Given the description of an element on the screen output the (x, y) to click on. 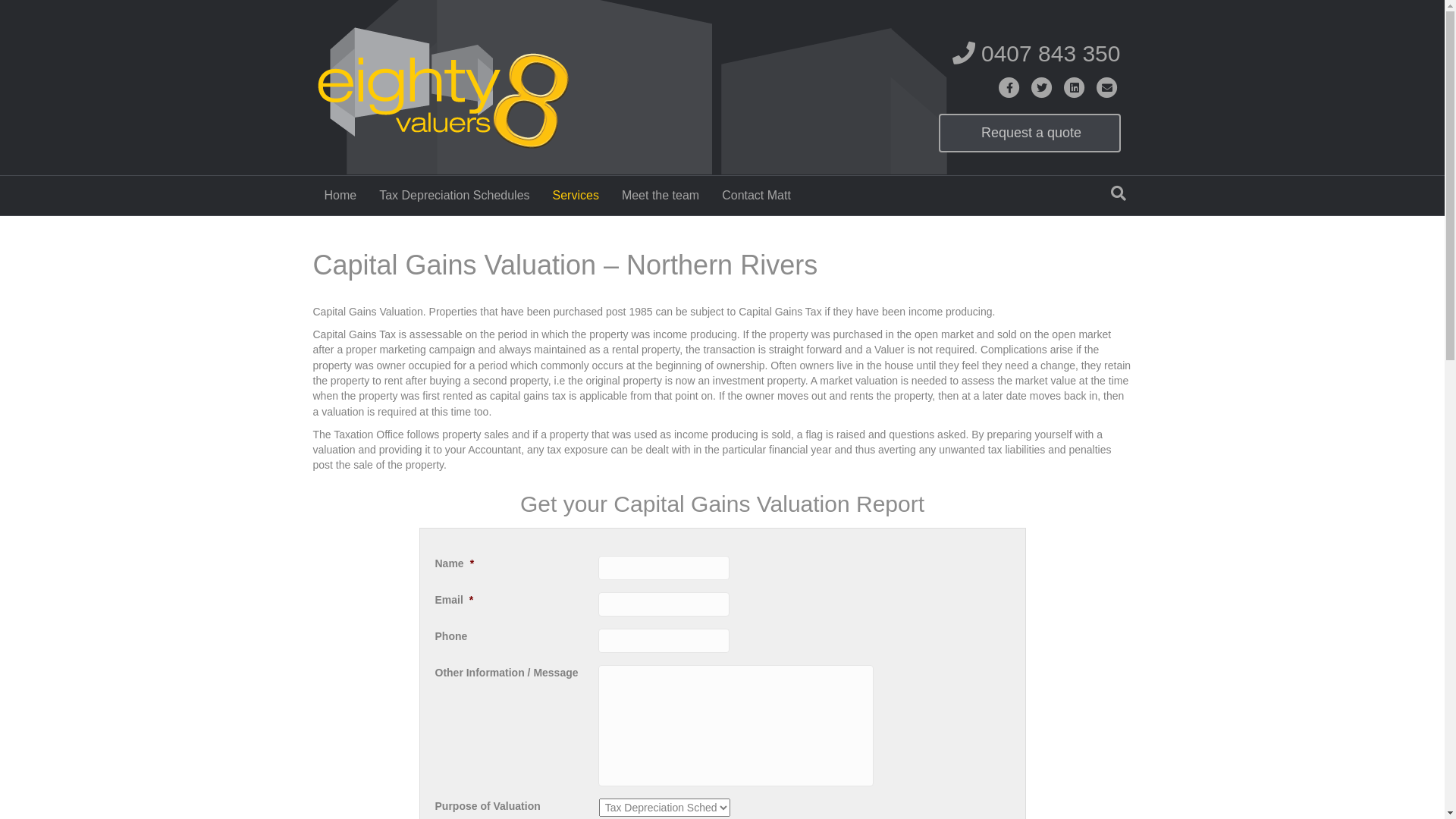
Contact Matt Element type: text (756, 195)
Tax Depreciation Schedules Element type: text (453, 195)
Facebook Element type: text (1009, 87)
Linkedin Element type: text (1074, 87)
Services Element type: text (575, 195)
Meet the team Element type: text (660, 195)
0407 843 350 Element type: text (1036, 52)
Request a quote Element type: text (1029, 132)
Home Element type: text (339, 195)
Twitter Element type: text (1041, 87)
Email Element type: text (1106, 87)
